Given the description of an element on the screen output the (x, y) to click on. 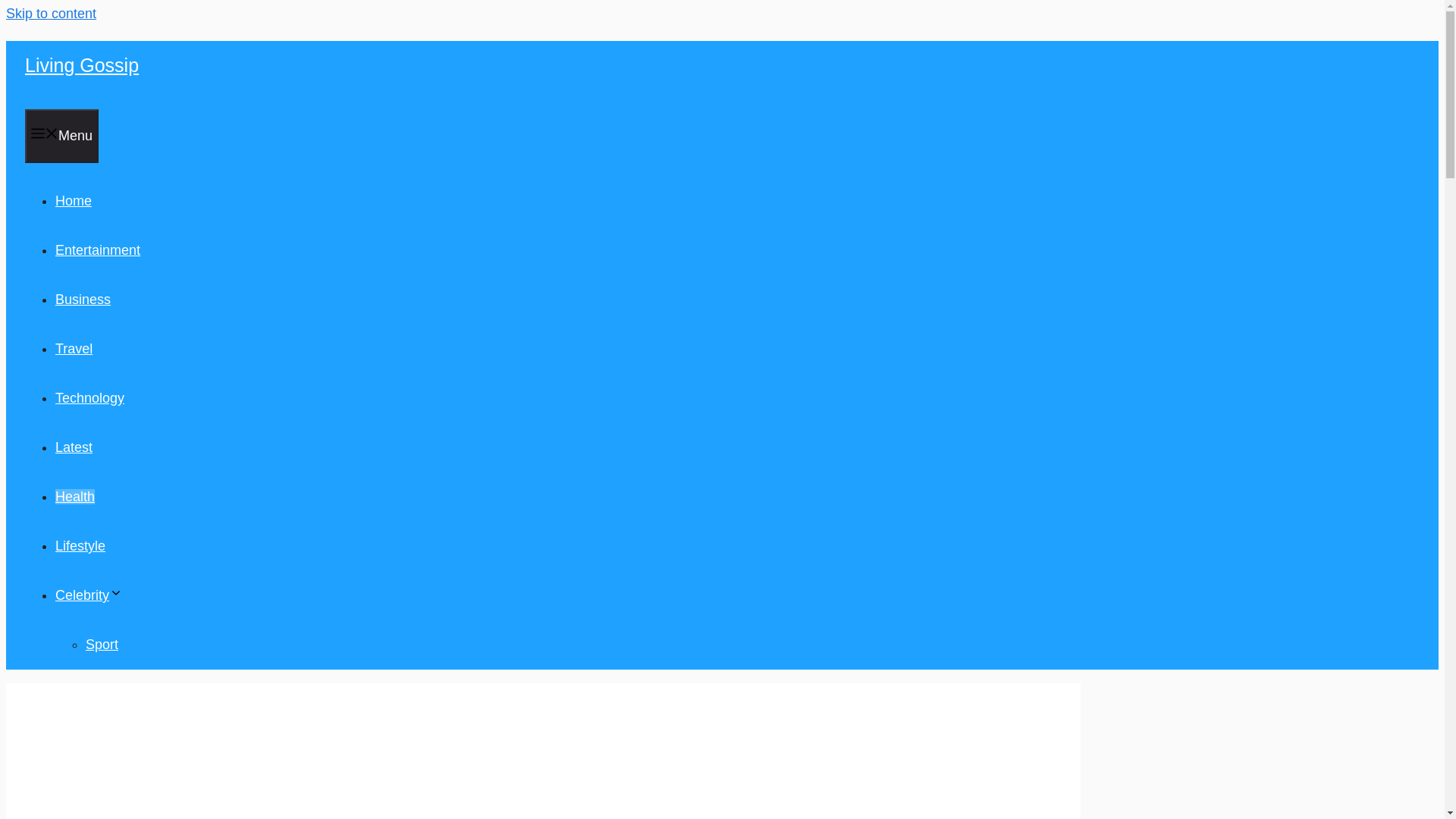
Lifestyle (79, 545)
Skip to content (50, 13)
Travel (74, 348)
Living Gossip (81, 65)
Celebrity (88, 595)
Health (74, 496)
Home (73, 200)
Skip to content (50, 13)
Technology (89, 397)
Entertainment (97, 249)
